Given the description of an element on the screen output the (x, y) to click on. 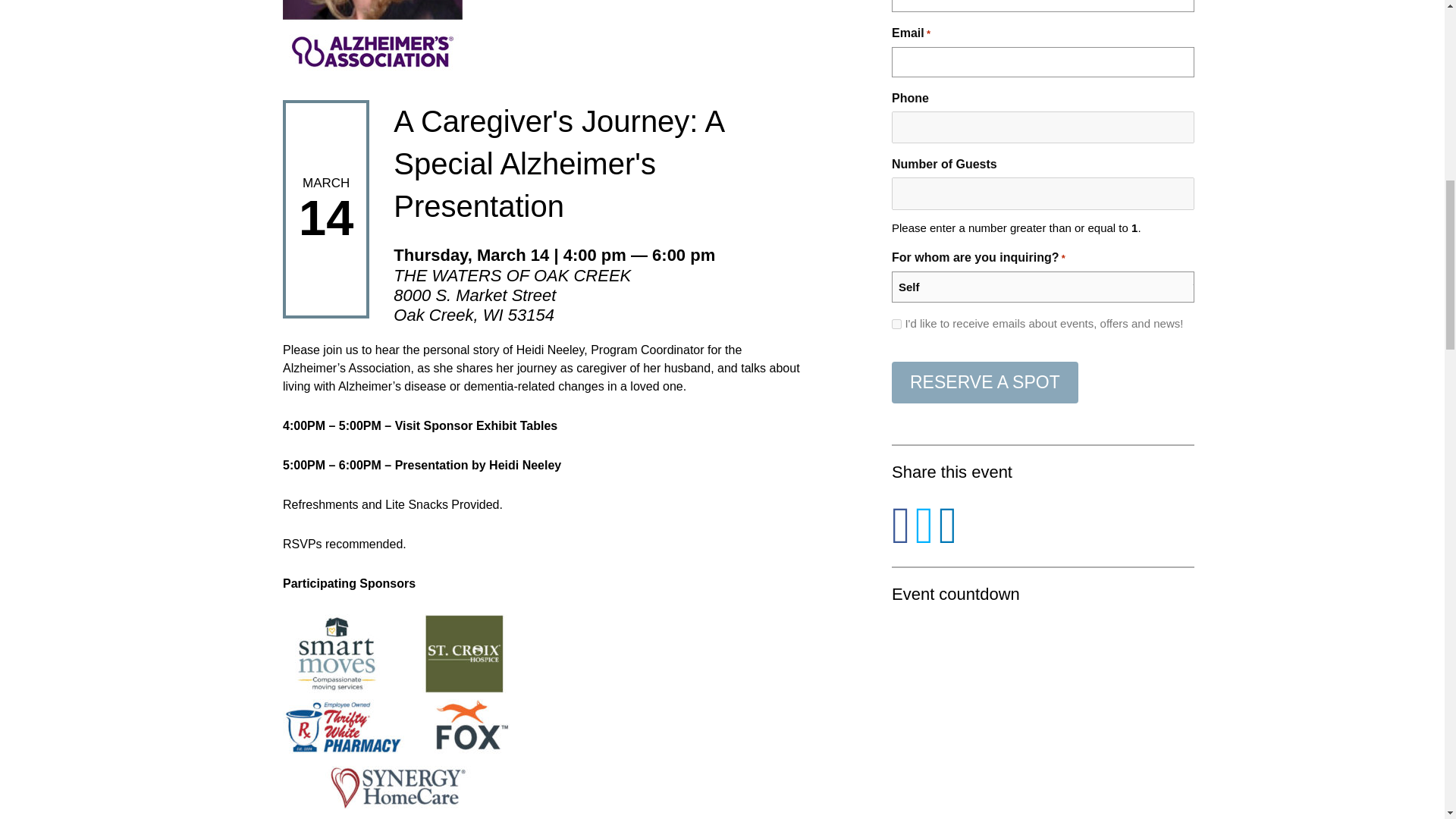
Yes (896, 324)
Reserve A Spot (984, 382)
